Given the description of an element on the screen output the (x, y) to click on. 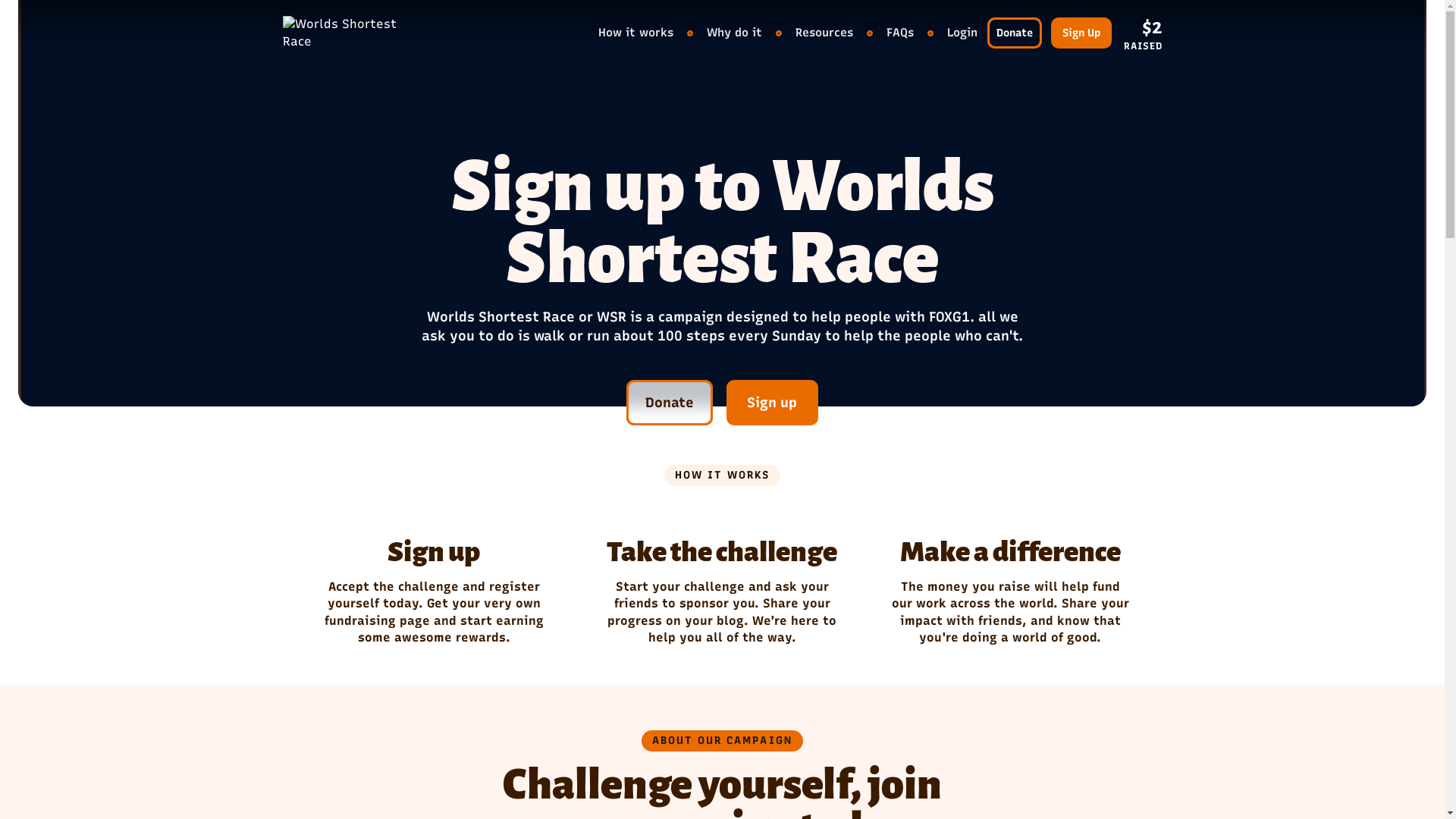
Why do it Element type: text (734, 32)
Sign up Element type: text (772, 402)
Resources Element type: text (824, 32)
Sign Up Element type: text (1081, 32)
Donate Element type: text (669, 402)
How it works Element type: text (635, 32)
Login Element type: text (962, 32)
Donate Element type: text (1014, 32)
FAQs Element type: text (899, 32)
